Given the description of an element on the screen output the (x, y) to click on. 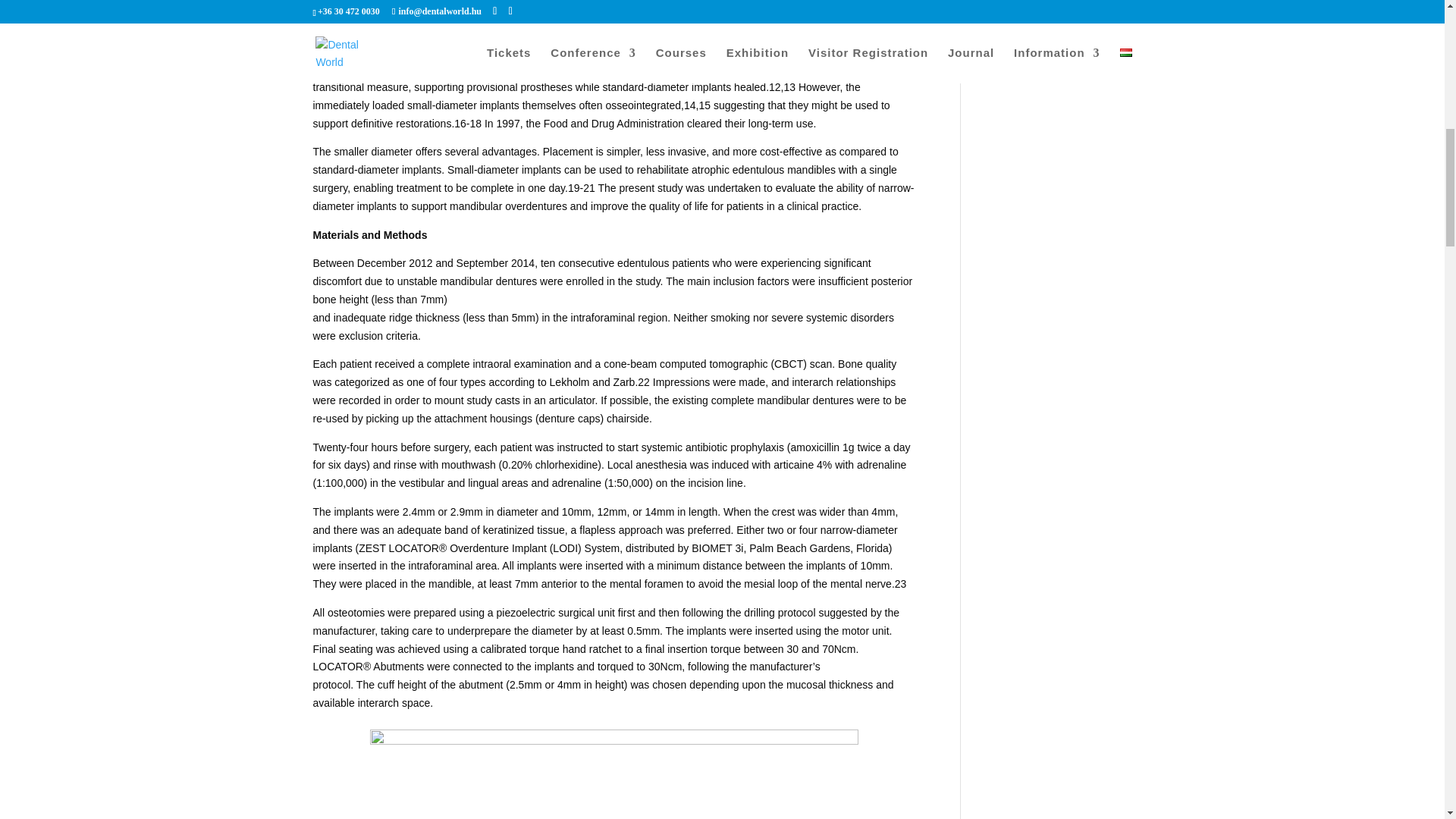
1 (614, 774)
